Given the description of an element on the screen output the (x, y) to click on. 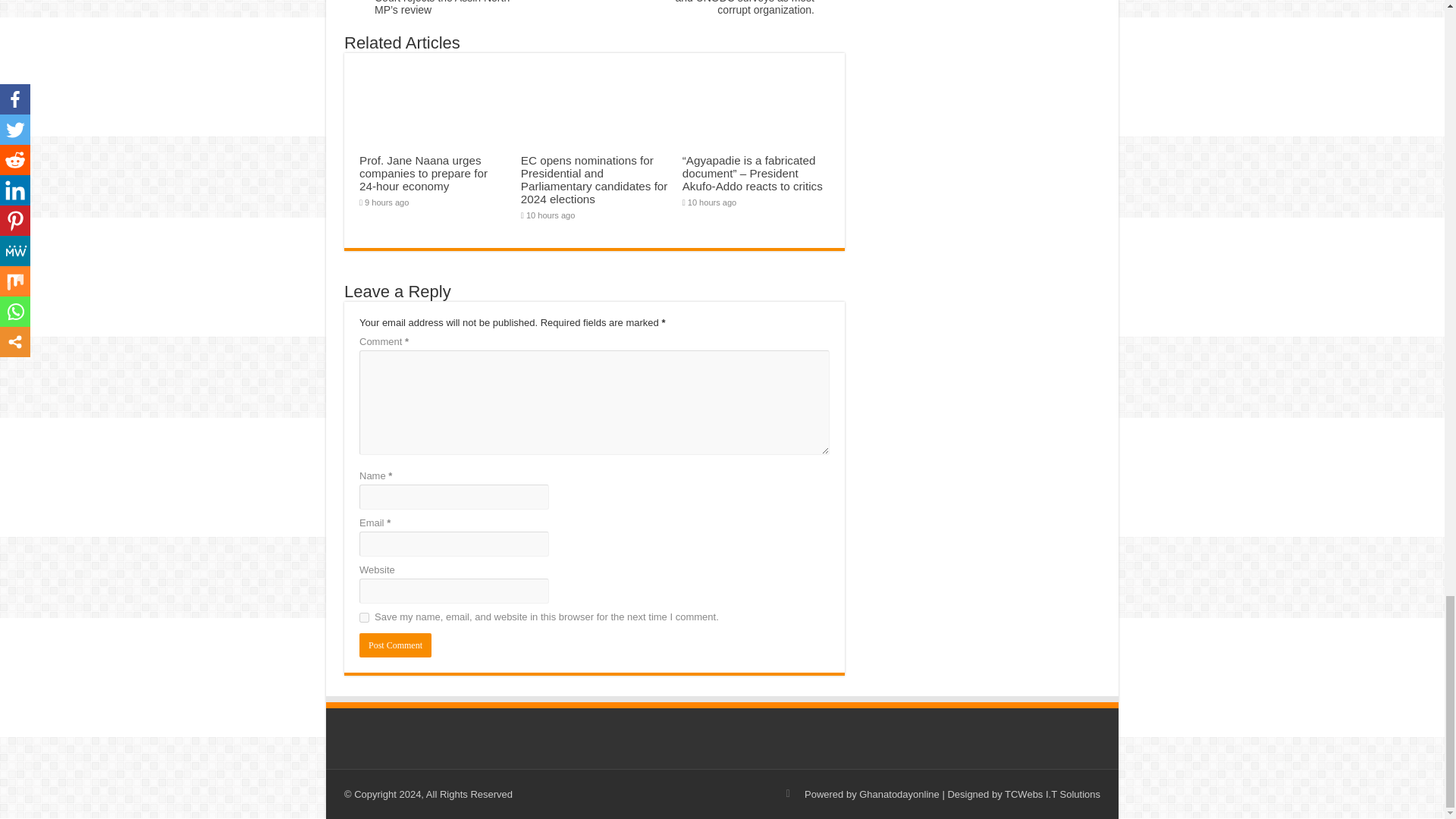
yes (364, 617)
Post Comment (394, 645)
